Given the description of an element on the screen output the (x, y) to click on. 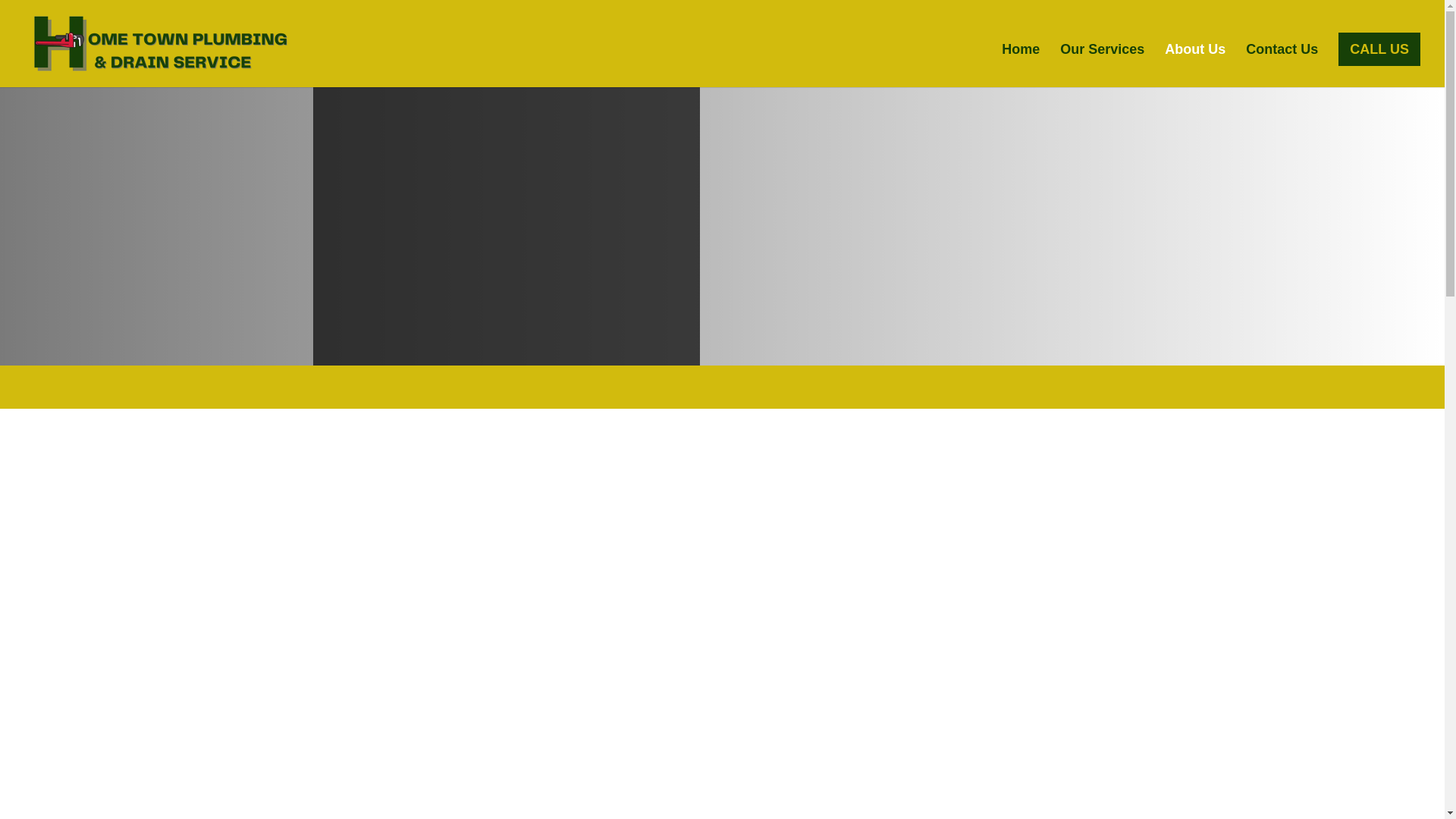
Contact Us (1281, 65)
About Us (1194, 65)
Our Services (1101, 65)
CALL US (1379, 49)
